Given the description of an element on the screen output the (x, y) to click on. 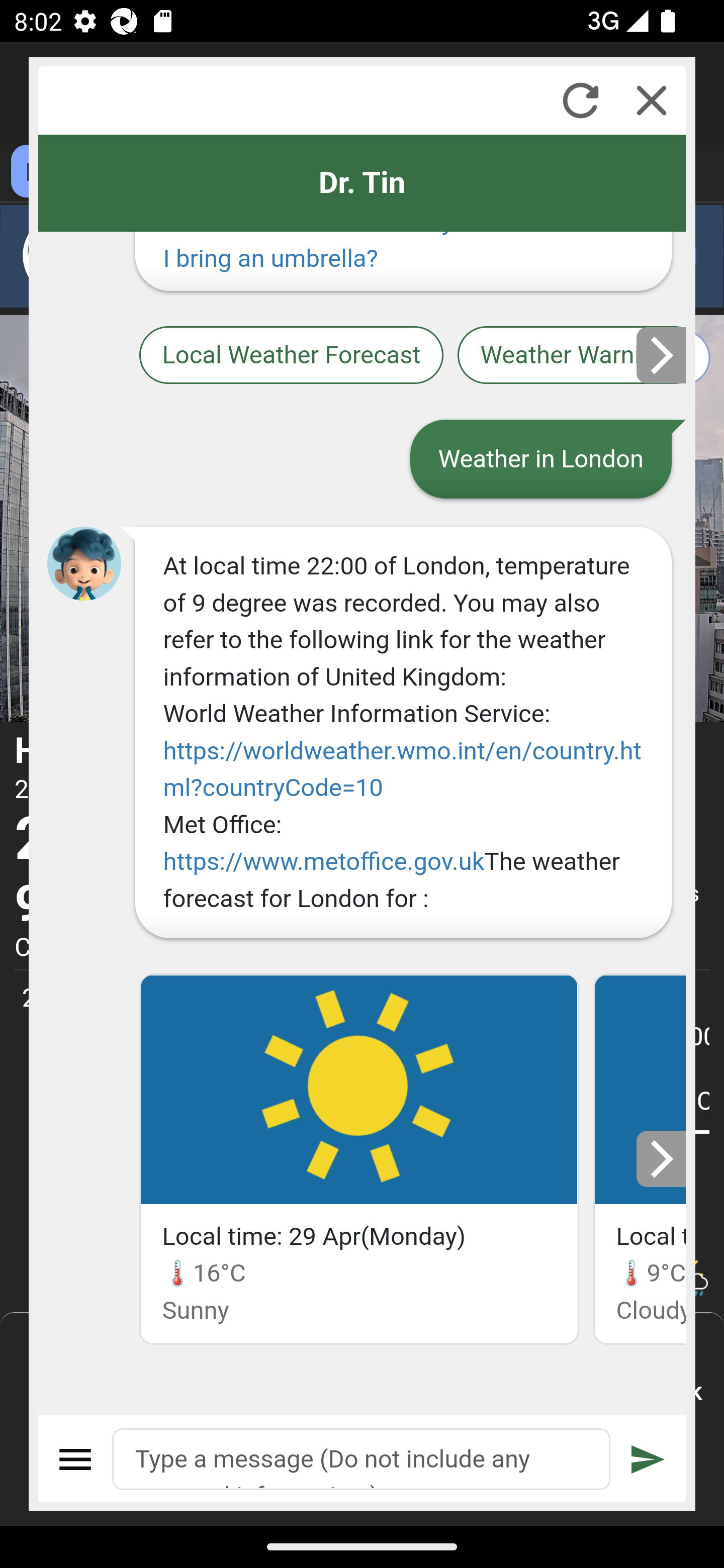
Refresh (580, 100)
Close (651, 100)
Local Weather Forecast (291, 354)
Weather Warnings (571, 354)
Next slide (661, 355)
https://www.metoffice.gov.uk (323, 861)
Next slide (661, 1159)
Menu (75, 1458)
Submit (648, 1458)
